Given the description of an element on the screen output the (x, y) to click on. 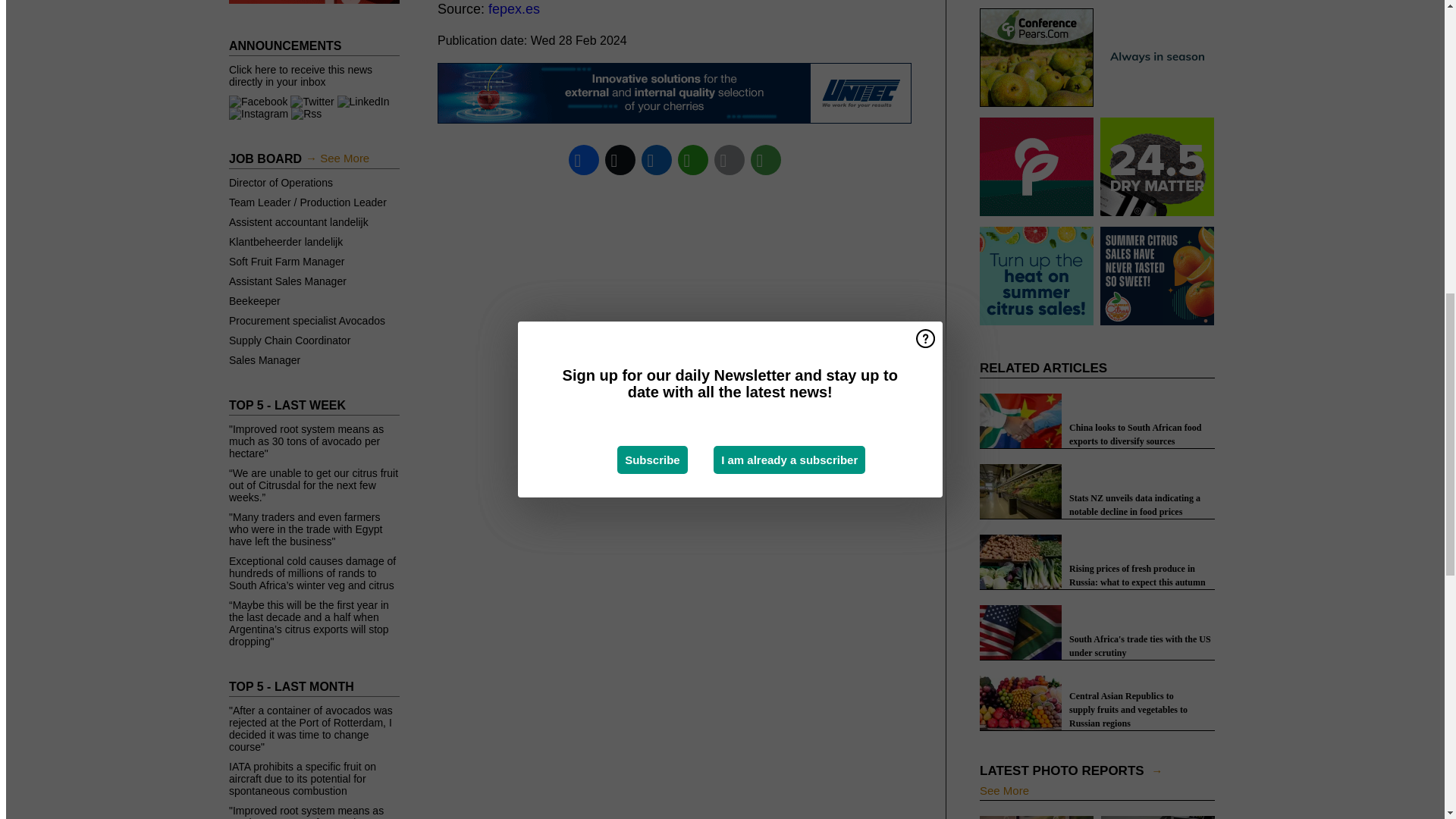
LinkedIn (657, 159)
More Options (766, 159)
WhatsApp (693, 159)
Facebook (584, 159)
Email This (729, 159)
